Given the description of an element on the screen output the (x, y) to click on. 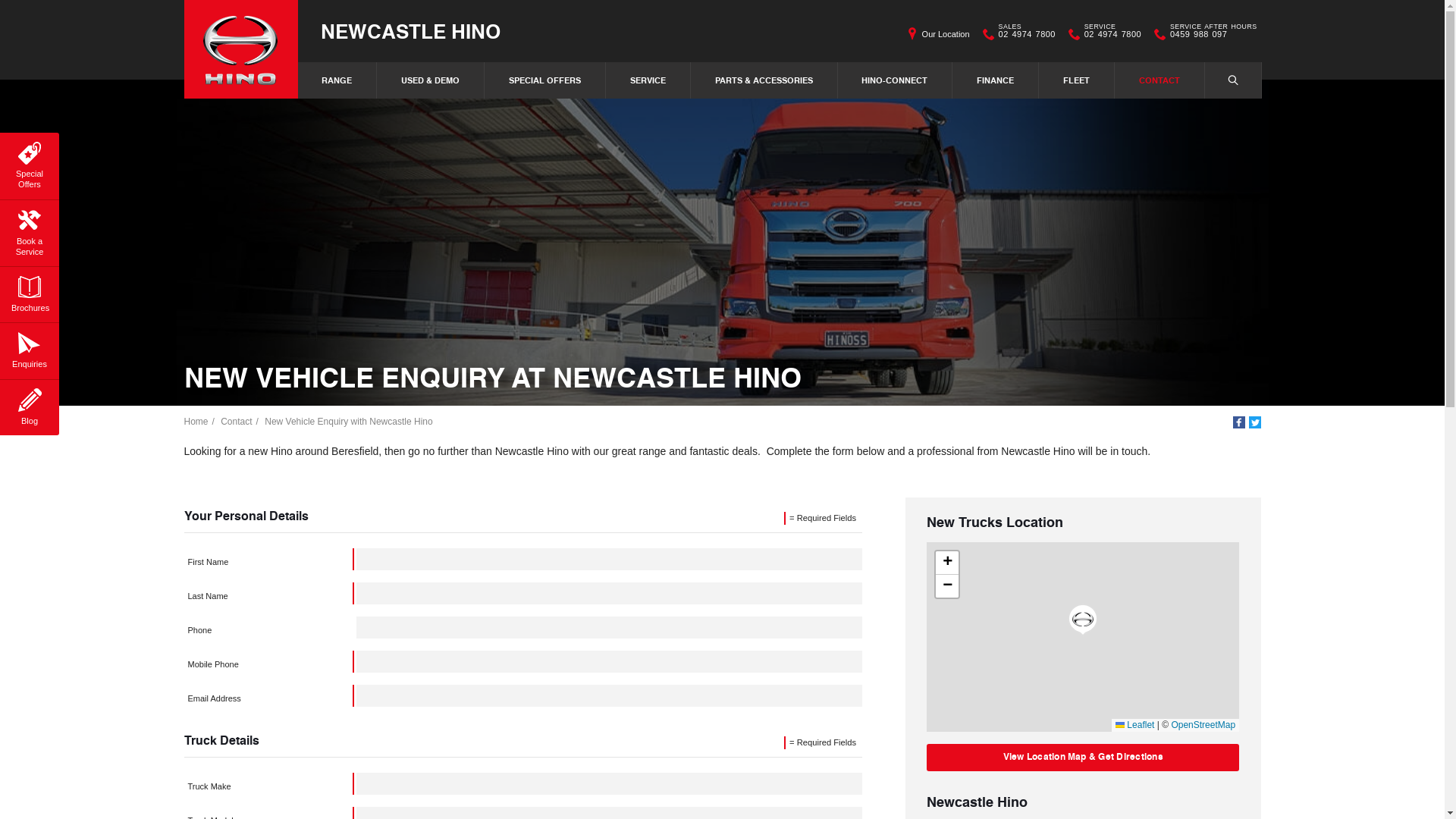
NEWCASTLE HINO Element type: text (409, 30)
Blog Element type: text (29, 404)
SALES
02 4974 7800 Element type: text (1026, 33)
Enquiries Element type: text (29, 347)
SERVICE Element type: text (647, 80)
Contact Element type: text (235, 421)
New Vehicle Enquiry with Newcastle Hino Element type: text (348, 421)
CONTACT Element type: text (1159, 80)
View Location Map & Get Directions Element type: text (1082, 757)
Our Location Element type: text (945, 33)
FLEET Element type: text (1076, 80)
RANGE Element type: text (337, 80)
Home Element type: text (195, 421)
PARTS & ACCESSORIES Element type: text (763, 80)
SERVICE AFTER HOURS
0459 988 097 Element type: text (1213, 33)
SPECIAL OFFERS Element type: text (544, 80)
+ Element type: text (946, 562)
SEARCH Element type: text (1232, 80)
USED & DEMO Element type: text (430, 80)
Twitter Element type: hover (1254, 422)
Facebook Element type: hover (1239, 422)
OpenStreetMap Element type: text (1202, 724)
Newcastle Hino Element type: hover (240, 49)
SERVICE
02 4974 7800 Element type: text (1112, 33)
Brochures Element type: text (29, 291)
Special Offers Element type: text (29, 163)
Book a Service Element type: text (29, 230)
FINANCE Element type: text (995, 80)
Leaflet Element type: text (1134, 724)
HINO-CONNECT Element type: text (894, 80)
